Given the description of an element on the screen output the (x, y) to click on. 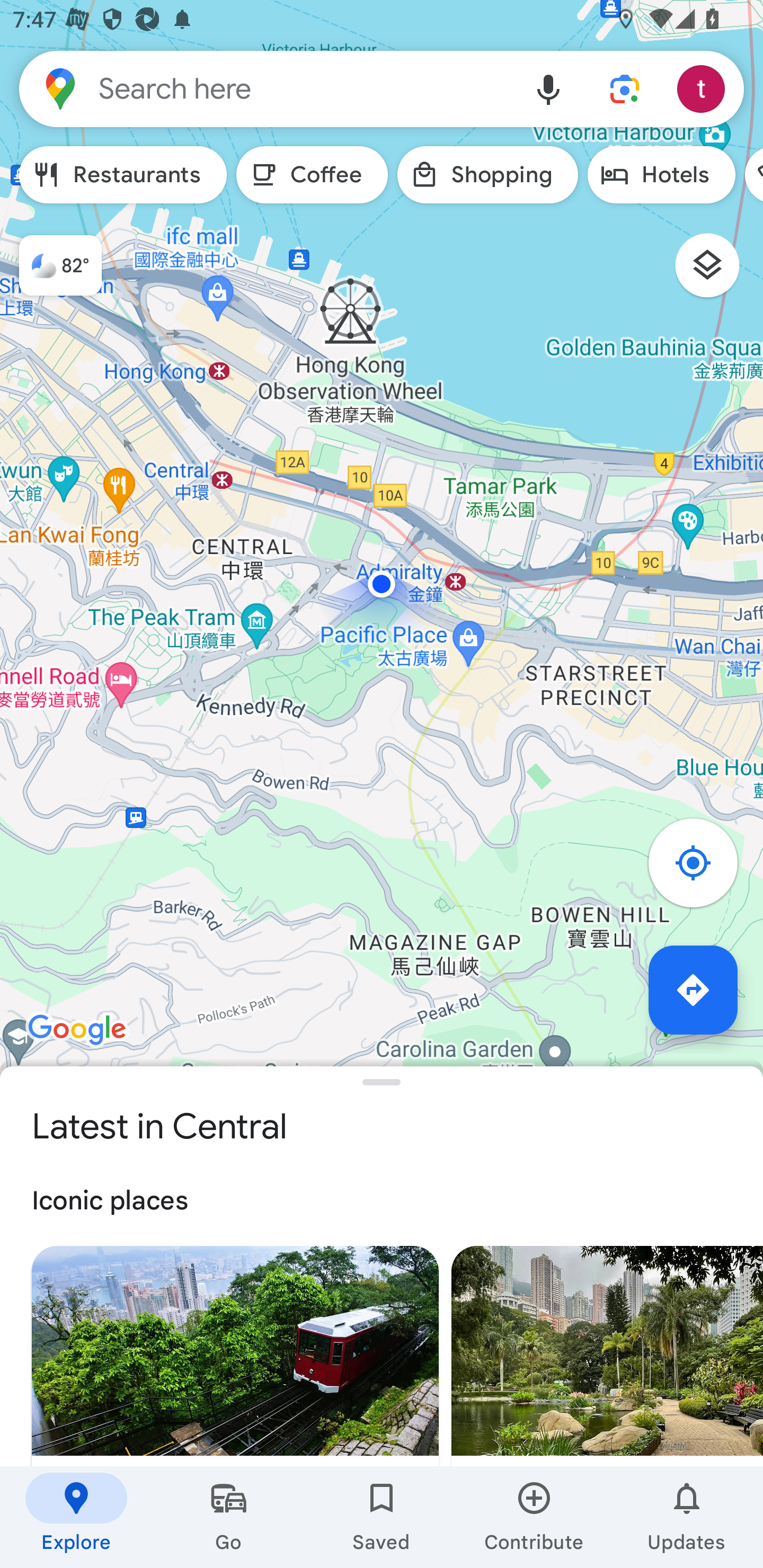
Search here (264, 88)
Voice search (548, 88)
Lens in Maps (624, 88)
Account and settings. (703, 88)
Restaurants Search for Restaurants (122, 174)
Coffee Search for Coffee (311, 174)
Shopping Search for Shopping (487, 174)
Hotels Search for Hotels (661, 174)
Partly cloudy, 82° 82° (50, 257)
Layers (716, 271)
Enter compass mode (702, 868)
Directions (692, 989)
Iconic places (381, 1200)
Go (228, 1517)
Saved (381, 1517)
Contribute (533, 1517)
Updates (686, 1517)
